Given the description of an element on the screen output the (x, y) to click on. 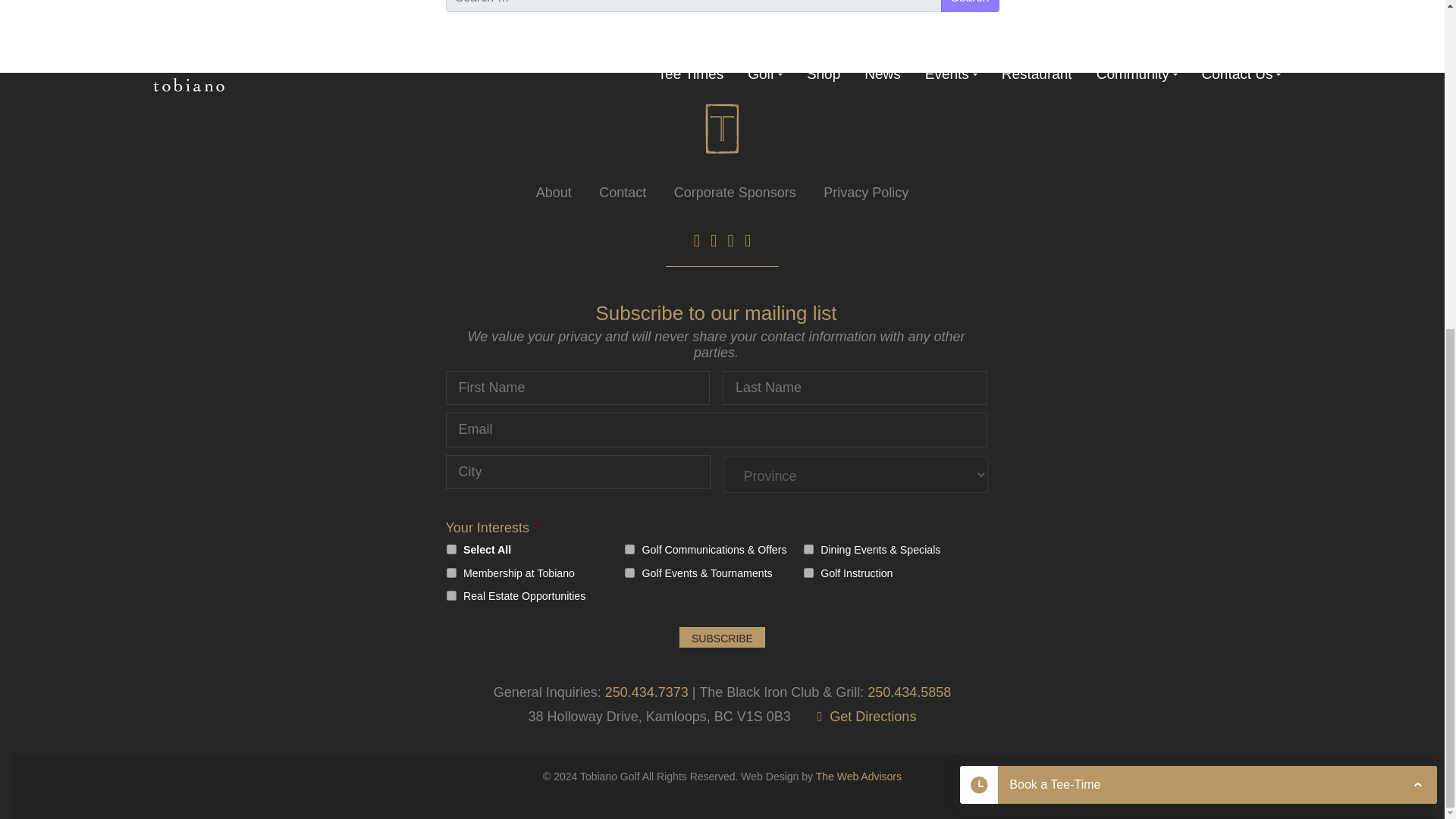
Golf Instruction (808, 573)
Search (969, 6)
Search (969, 6)
Subscribe (722, 637)
Membership at Tobiano (450, 573)
on (450, 549)
Real Estate Opportunities (450, 595)
